Given the description of an element on the screen output the (x, y) to click on. 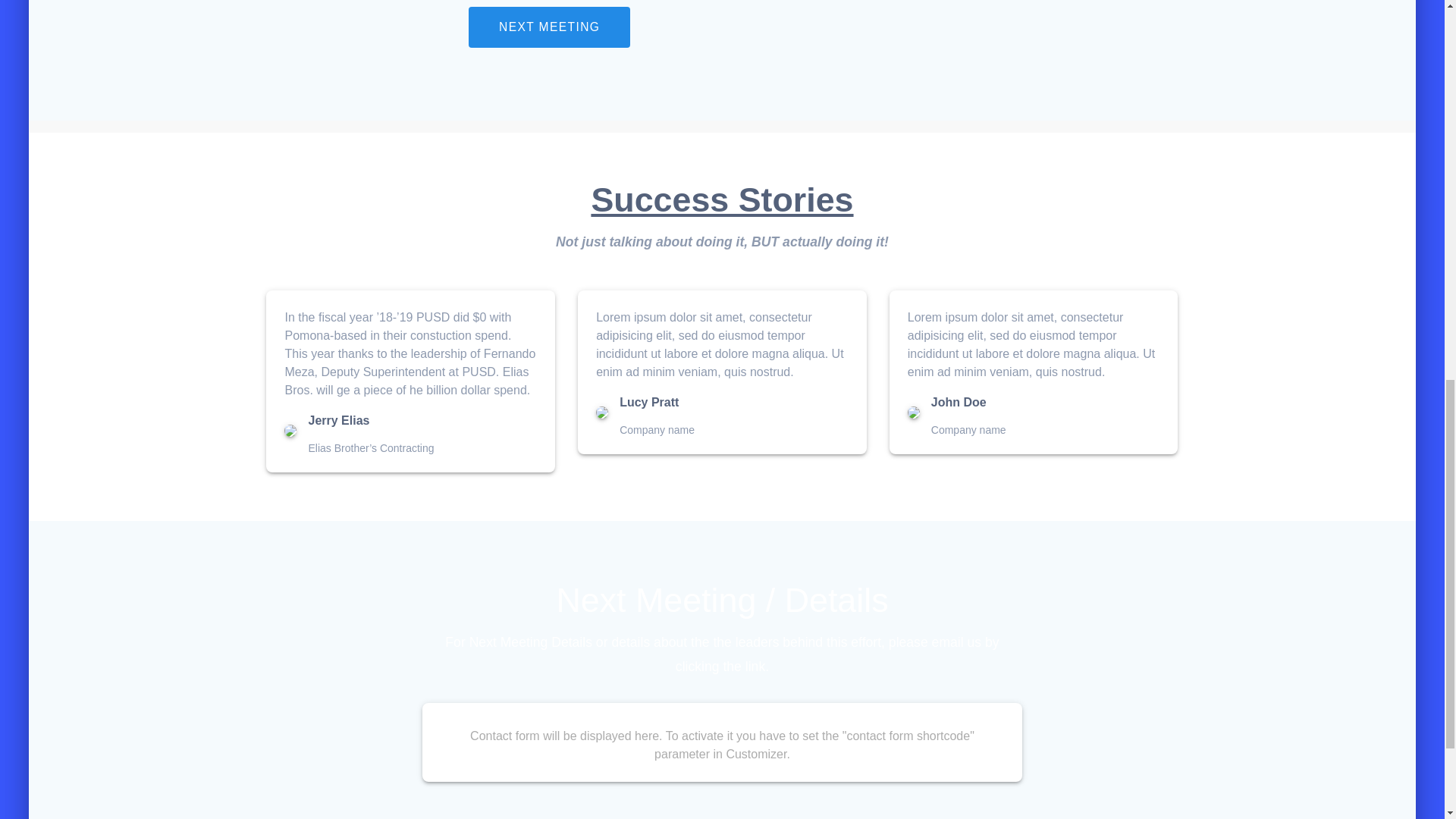
NEXT MEETING (549, 26)
